Given the description of an element on the screen output the (x, y) to click on. 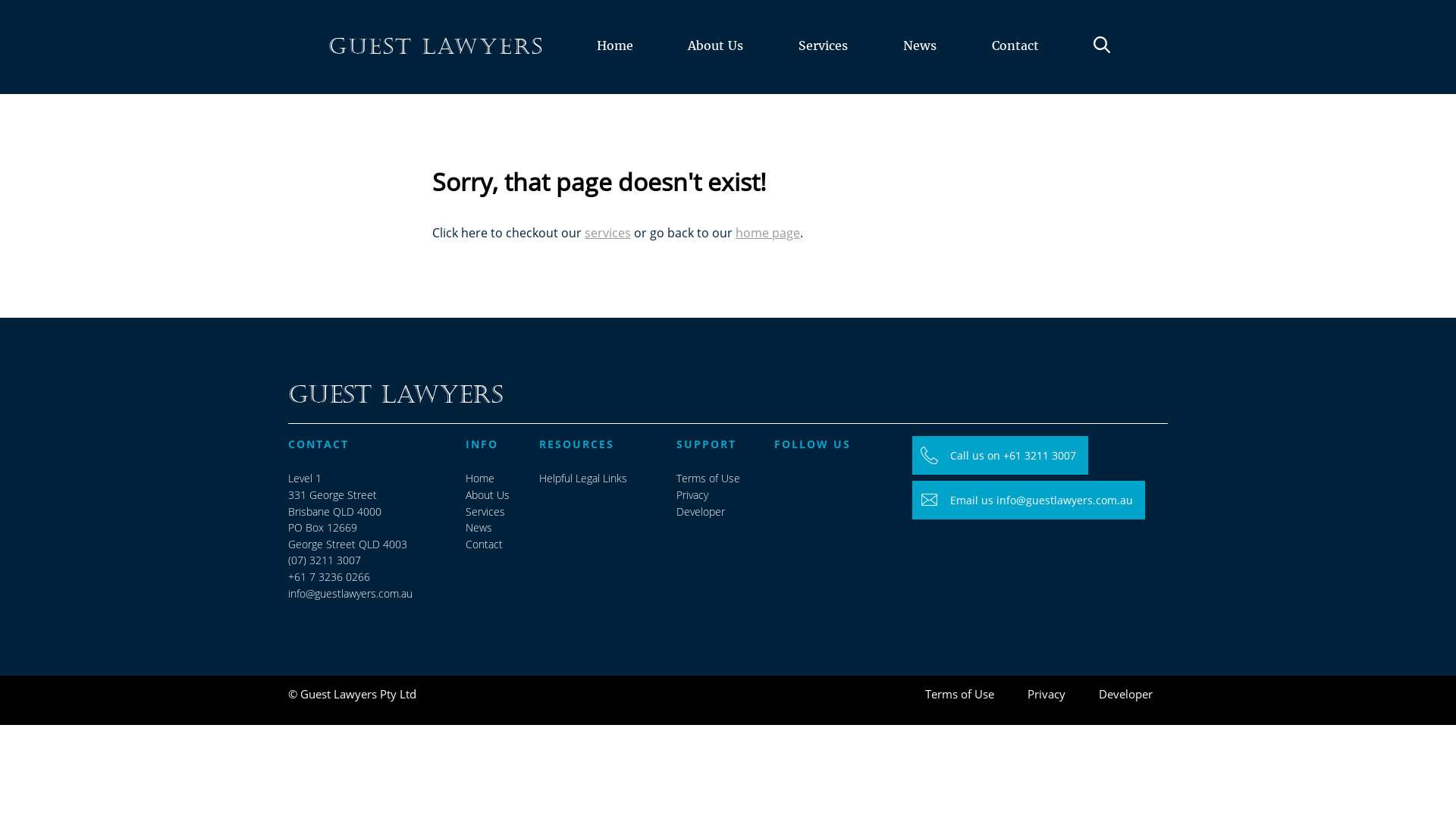
Terms of Use Element type: text (708, 478)
News Element type: text (919, 63)
Developer Element type: text (700, 511)
Home Element type: text (479, 478)
info@guestlawyers.com.au Element type: text (350, 593)
Helpful Legal Links Element type: text (583, 478)
services Element type: text (607, 232)
Privacy Element type: text (1046, 694)
Services Element type: text (485, 511)
GUEST LAWYERS Element type: text (435, 46)
Terms of Use Element type: text (959, 694)
Home Element type: text (614, 63)
Email us info@guestlawyers.com.au Element type: text (1028, 500)
Services Element type: text (823, 63)
(07) 3211 3007 Element type: text (324, 560)
Developer Element type: text (1125, 694)
Call us on +61 3211 3007 Element type: text (1000, 455)
About Us Element type: text (715, 63)
Privacy Element type: text (692, 494)
home page Element type: text (767, 232)
Level 1
331 George Street
Brisbane QLD 4000 Element type: text (334, 494)
Contact Element type: text (1014, 63)
Contact Element type: text (483, 544)
News Element type: text (478, 527)
About Us Element type: text (487, 494)
